Given the description of an element on the screen output the (x, y) to click on. 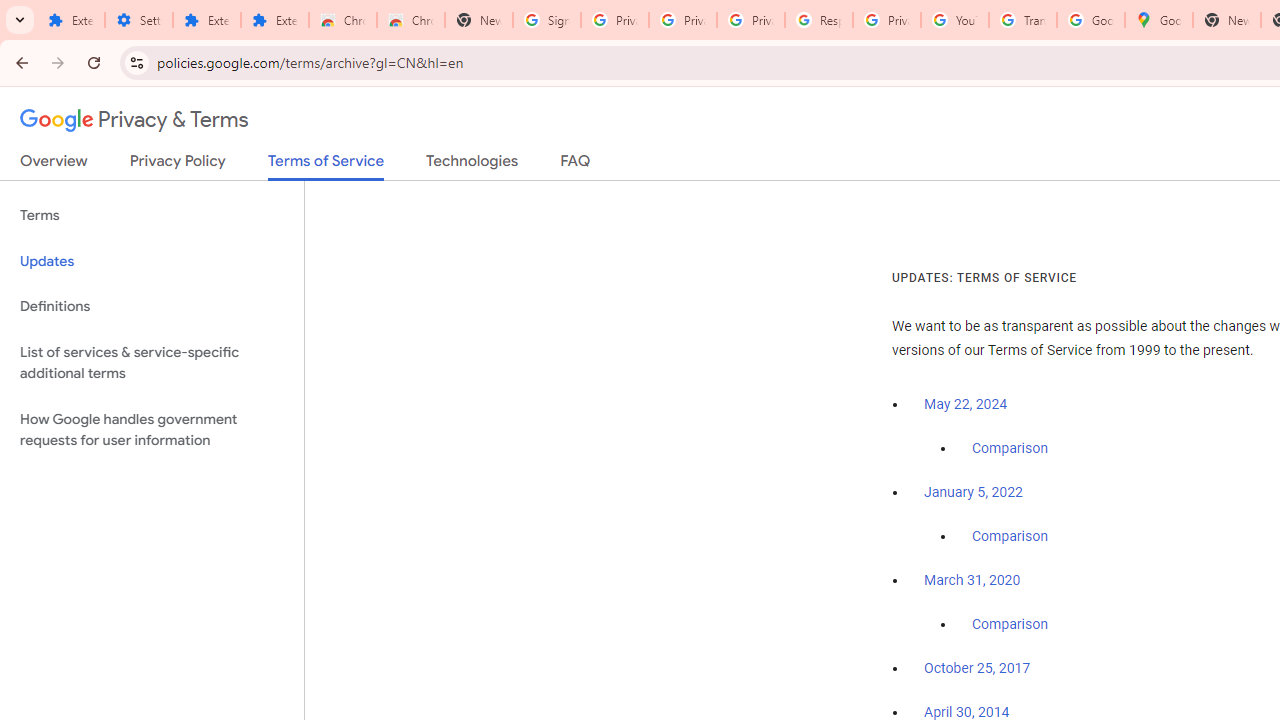
Extensions (206, 20)
Google Maps (1158, 20)
May 22, 2024 (966, 404)
Extensions (274, 20)
List of services & service-specific additional terms (152, 362)
